Given the description of an element on the screen output the (x, y) to click on. 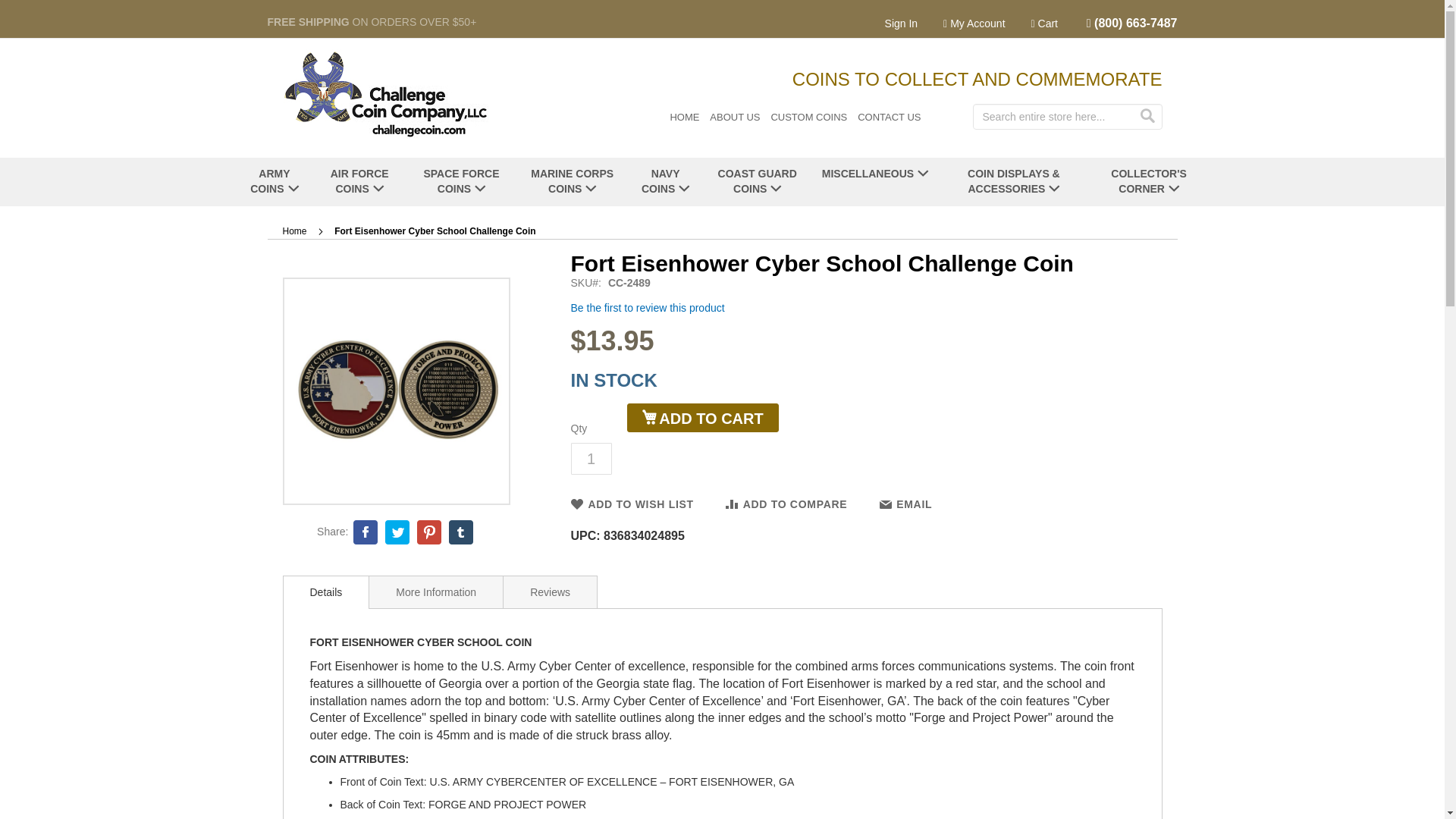
Cart (1049, 23)
ABOUT US (735, 116)
PayPal (701, 456)
Go to Home Page (293, 231)
SPACE FORCE COINS (461, 182)
Sign In (907, 23)
Availability (858, 380)
ARMY COINS (273, 182)
My Account (973, 23)
Challenge Coin (384, 93)
CUSTOM COINS (808, 116)
HOME (683, 116)
Qty (590, 459)
AIR FORCE COINS (359, 182)
MARINE CORPS COINS (571, 182)
